Given the description of an element on the screen output the (x, y) to click on. 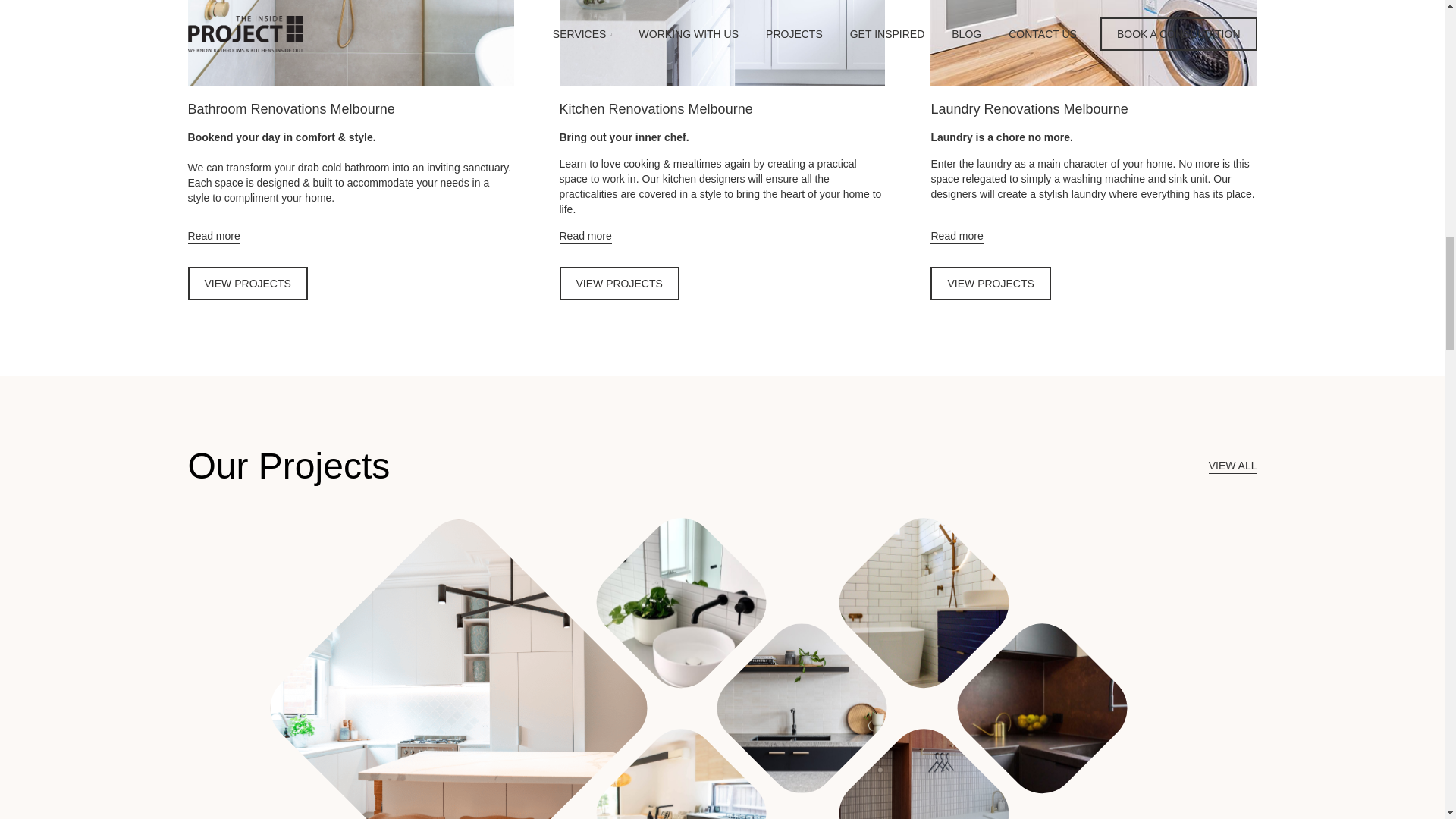
Read more (213, 236)
VIEW ALL (1232, 466)
VIEW PROJECTS (989, 283)
Laundry Renovation Surrey Hills (923, 766)
VIEW PROJECTS (619, 283)
VIEW PROJECTS (247, 283)
Kitchen Renovation Elwood (801, 708)
Laundry Renovation Yarraville (1041, 708)
Bathroom Renovation Moonee Ponds (680, 602)
Read more (585, 236)
Kitchen Renovation Williamstown (458, 668)
Bathroom Renovation Spotswood (923, 602)
Read more (956, 236)
